Given the description of an element on the screen output the (x, y) to click on. 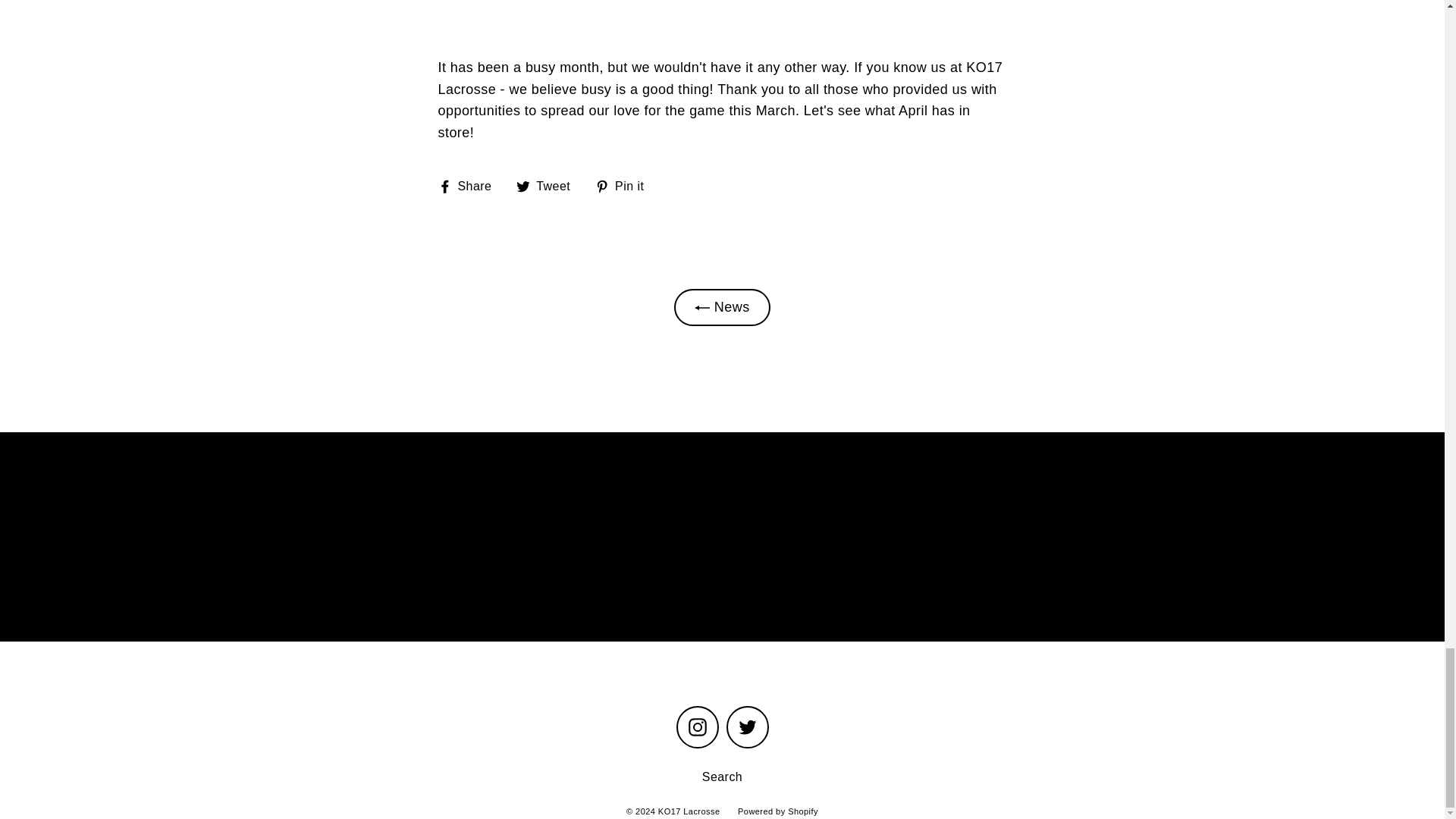
News (722, 307)
Powered by Shopify (778, 810)
KO17 Lacrosse on Twitter (747, 726)
Share on Facebook (470, 186)
KO17 Lacrosse on Instagram (548, 186)
Instagram (698, 726)
Twitter (470, 186)
